Given the description of an element on the screen output the (x, y) to click on. 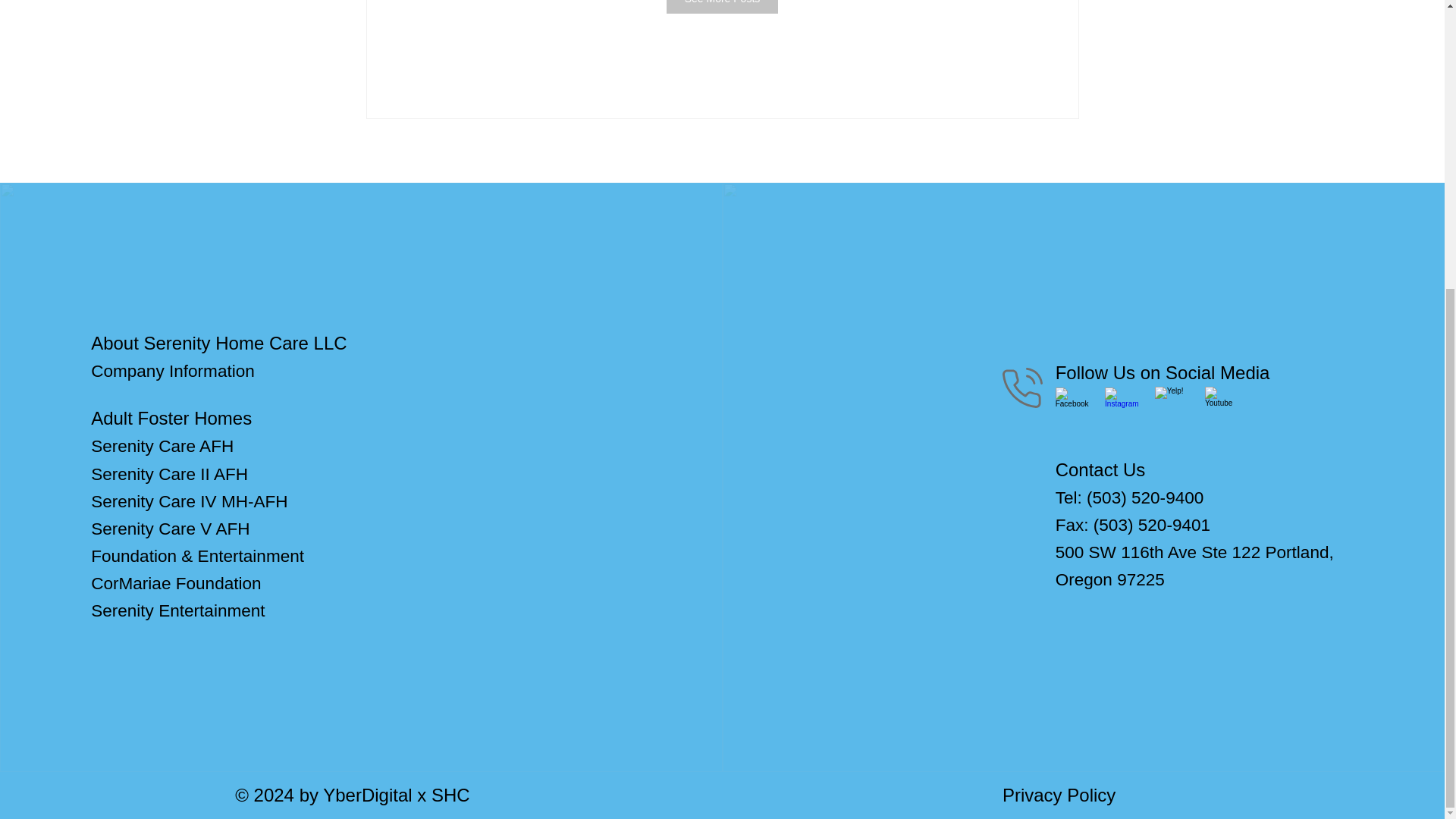
See More Posts (722, 6)
